Given the description of an element on the screen output the (x, y) to click on. 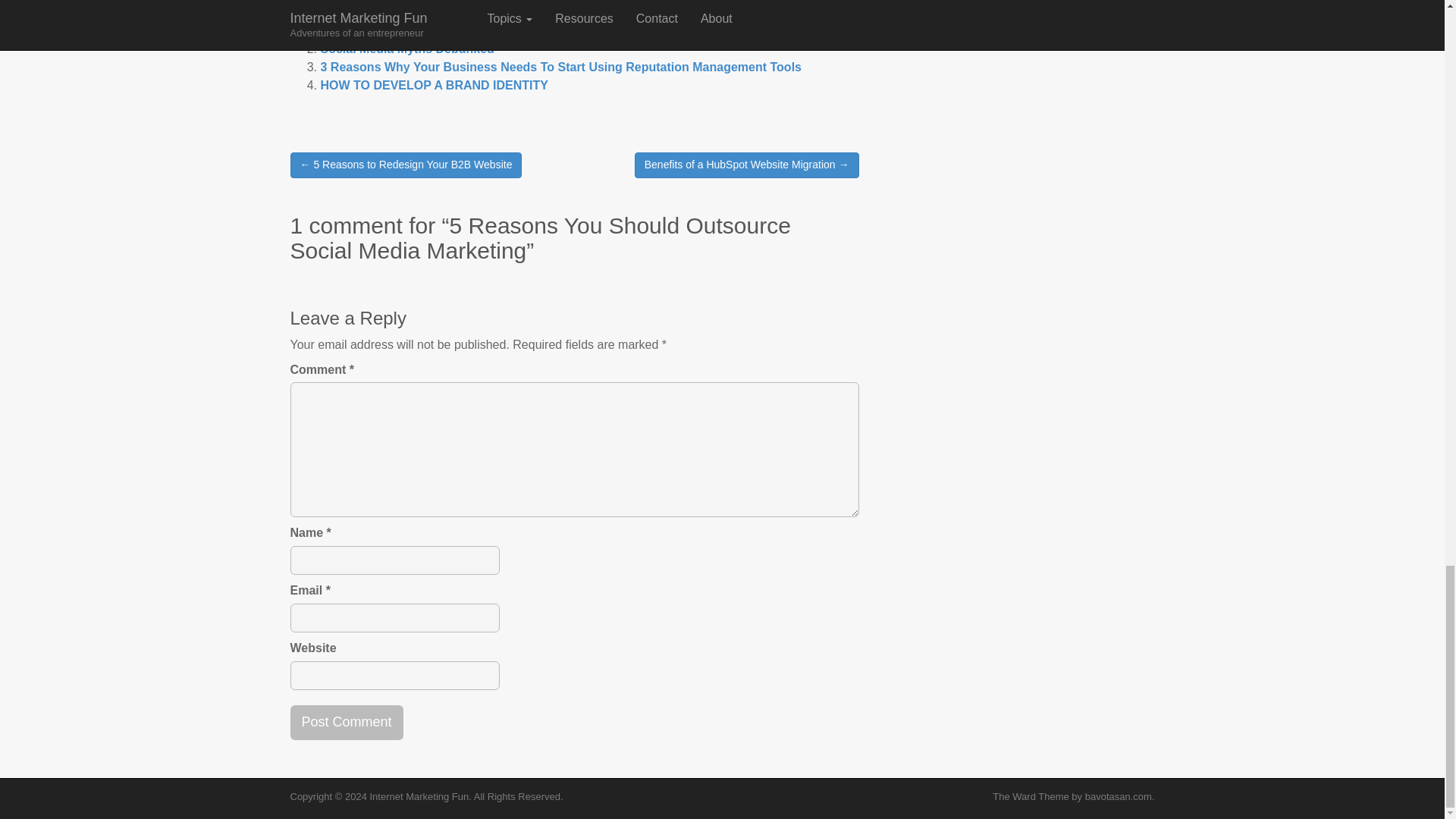
Social Media Myths Debunked (406, 48)
HOW TO DEVELOP A BRAND IDENTITY (433, 84)
Social Media Myths Debunked (406, 48)
HOW TO DEVELOP A BRAND IDENTITY (433, 84)
Post Comment (346, 722)
